Given the description of an element on the screen output the (x, y) to click on. 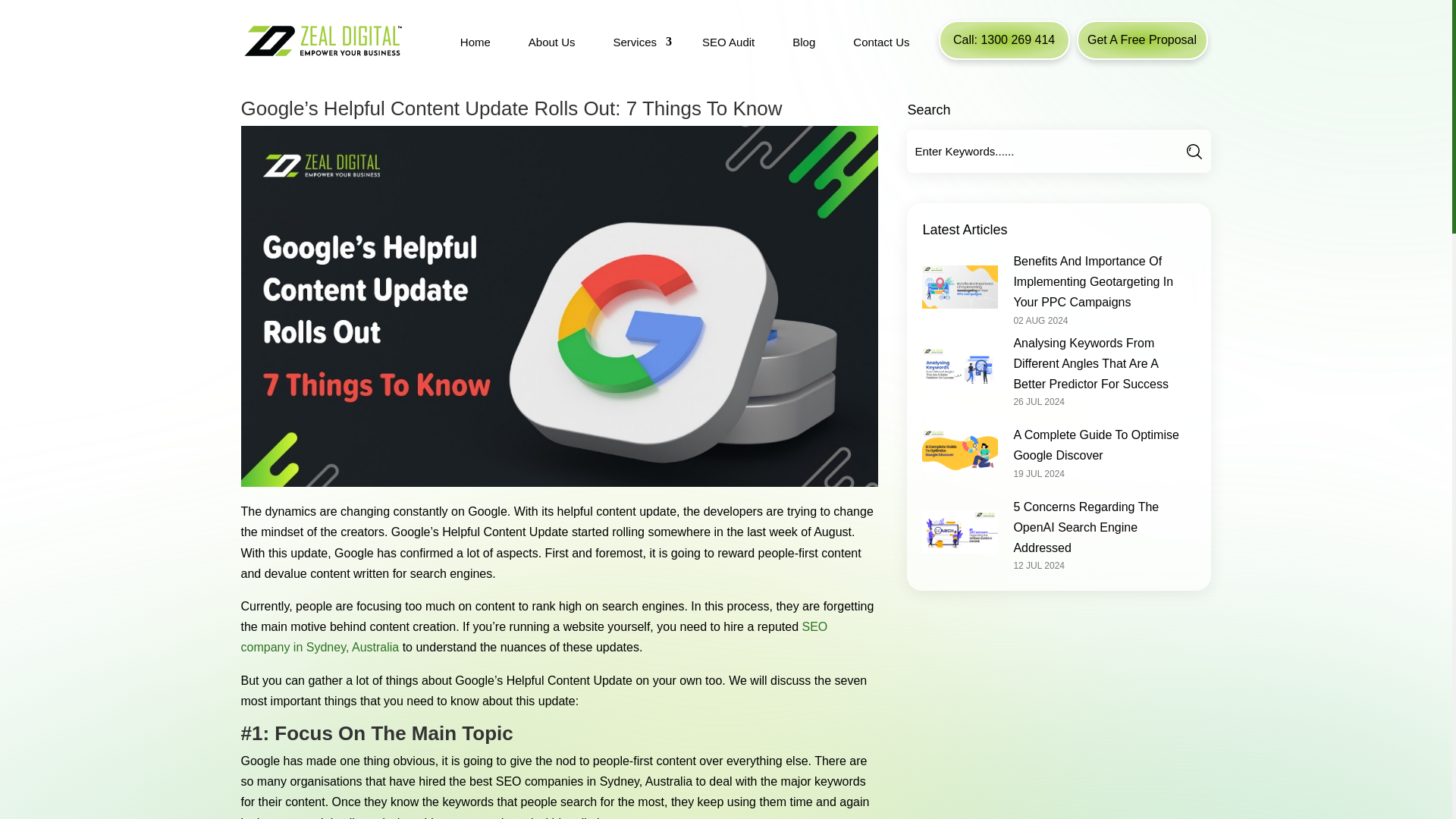
Contact Us (881, 43)
Blog (803, 43)
SEO company in Sydney, Australia (534, 636)
Call: 1300 269 414 (1004, 39)
Services (638, 43)
Get A Free Proposal (1142, 39)
About Us (552, 43)
Home (474, 43)
SEO Audit (727, 43)
A Complete Guide To Optimise Google Discover (1095, 444)
Zeal-Logo-tm (321, 40)
